Given the description of an element on the screen output the (x, y) to click on. 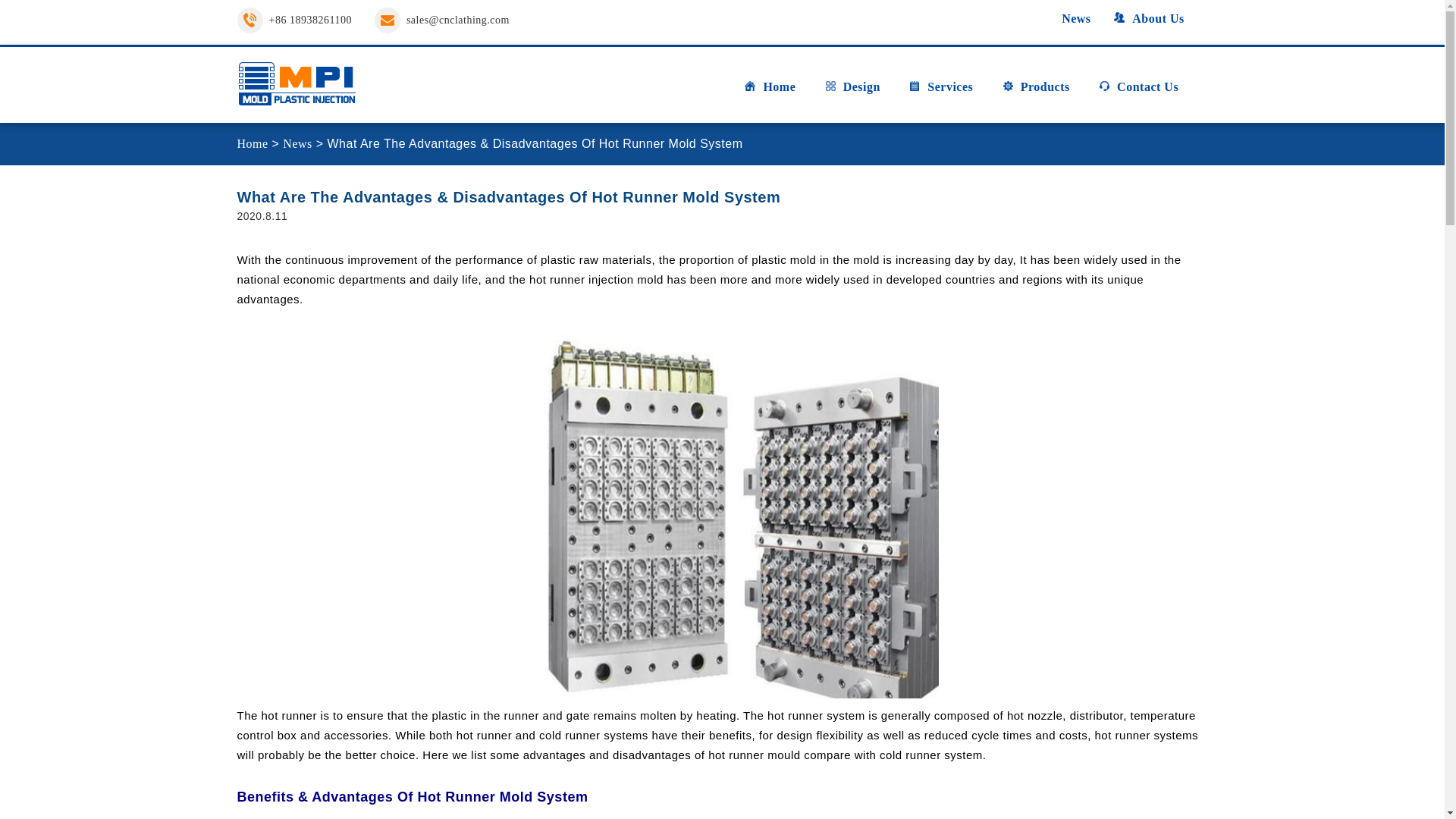
Services (940, 92)
Design (852, 92)
About Us (1148, 18)
Home (769, 92)
Go to the News category archives. (296, 143)
Contact Us (1138, 92)
Products (1036, 92)
News (1066, 18)
